Given the description of an element on the screen output the (x, y) to click on. 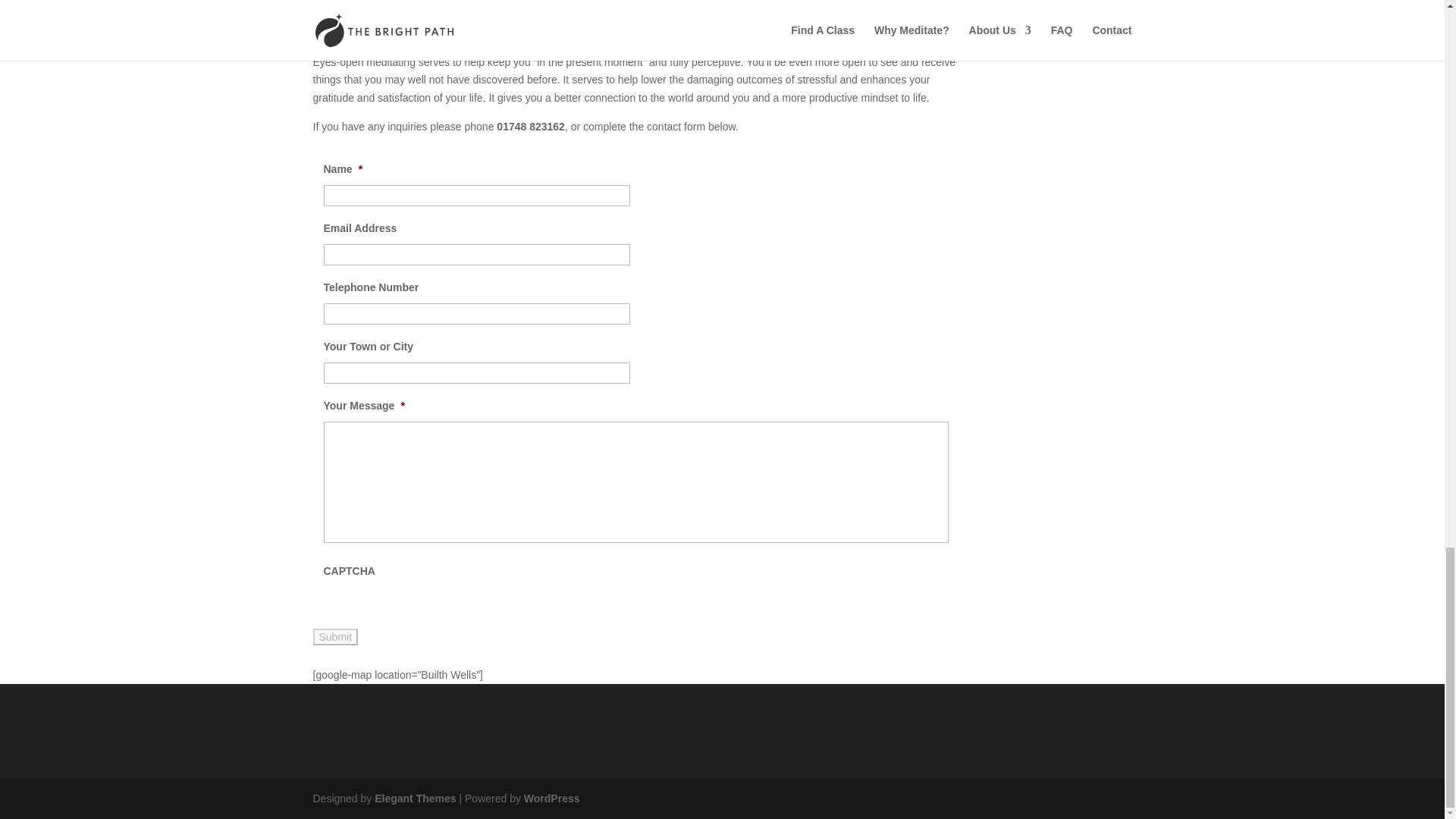
WordPress (551, 798)
Premium WordPress Themes (414, 798)
Elegant Themes (414, 798)
Submit (335, 636)
Submit (335, 636)
